Given the description of an element on the screen output the (x, y) to click on. 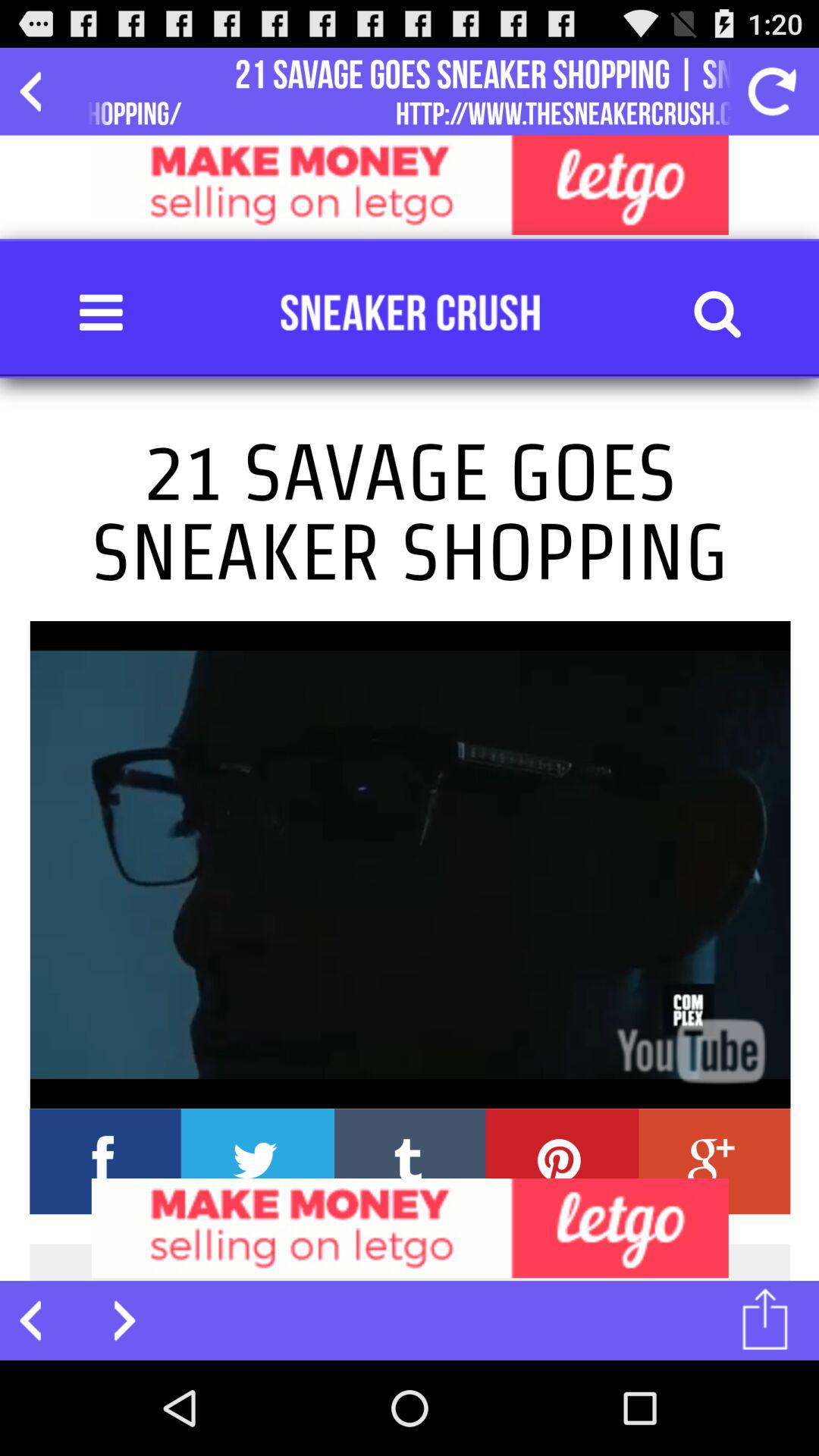
next page (115, 1320)
